Given the description of an element on the screen output the (x, y) to click on. 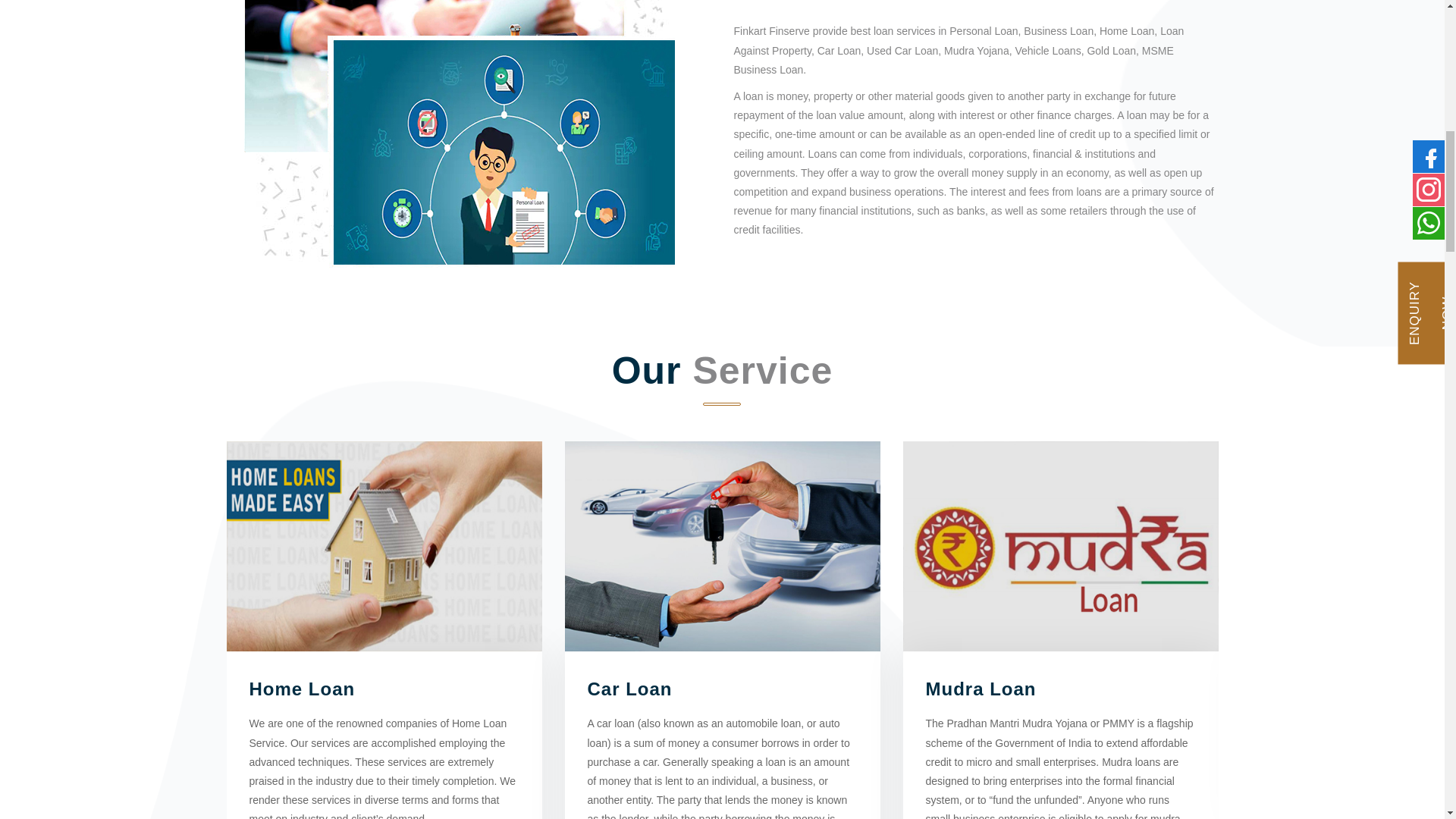
Mudra Loan (979, 688)
Car Loan (628, 688)
Finkart Finserve (453, 135)
Home Loan (383, 546)
Home Loan (301, 688)
